Given the description of an element on the screen output the (x, y) to click on. 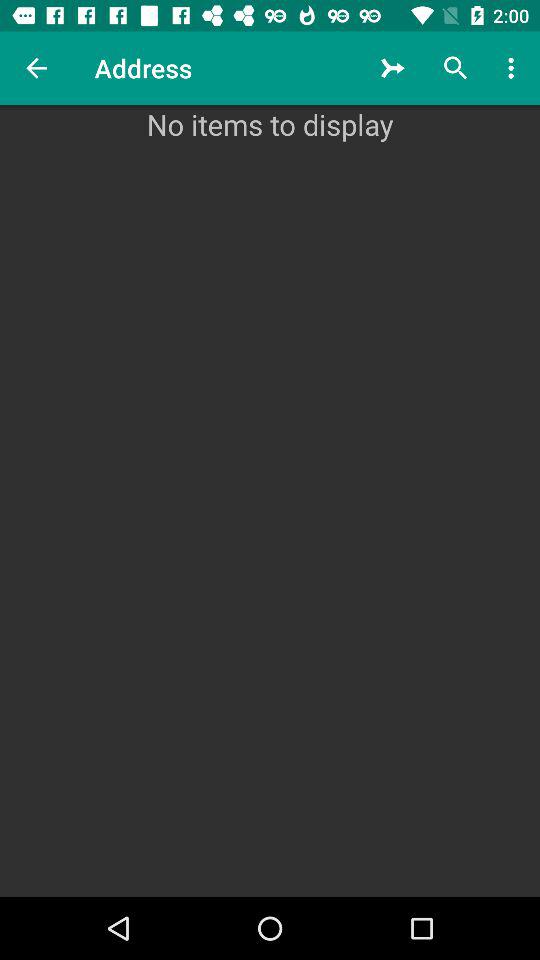
turn off the icon above no items to item (36, 68)
